Given the description of an element on the screen output the (x, y) to click on. 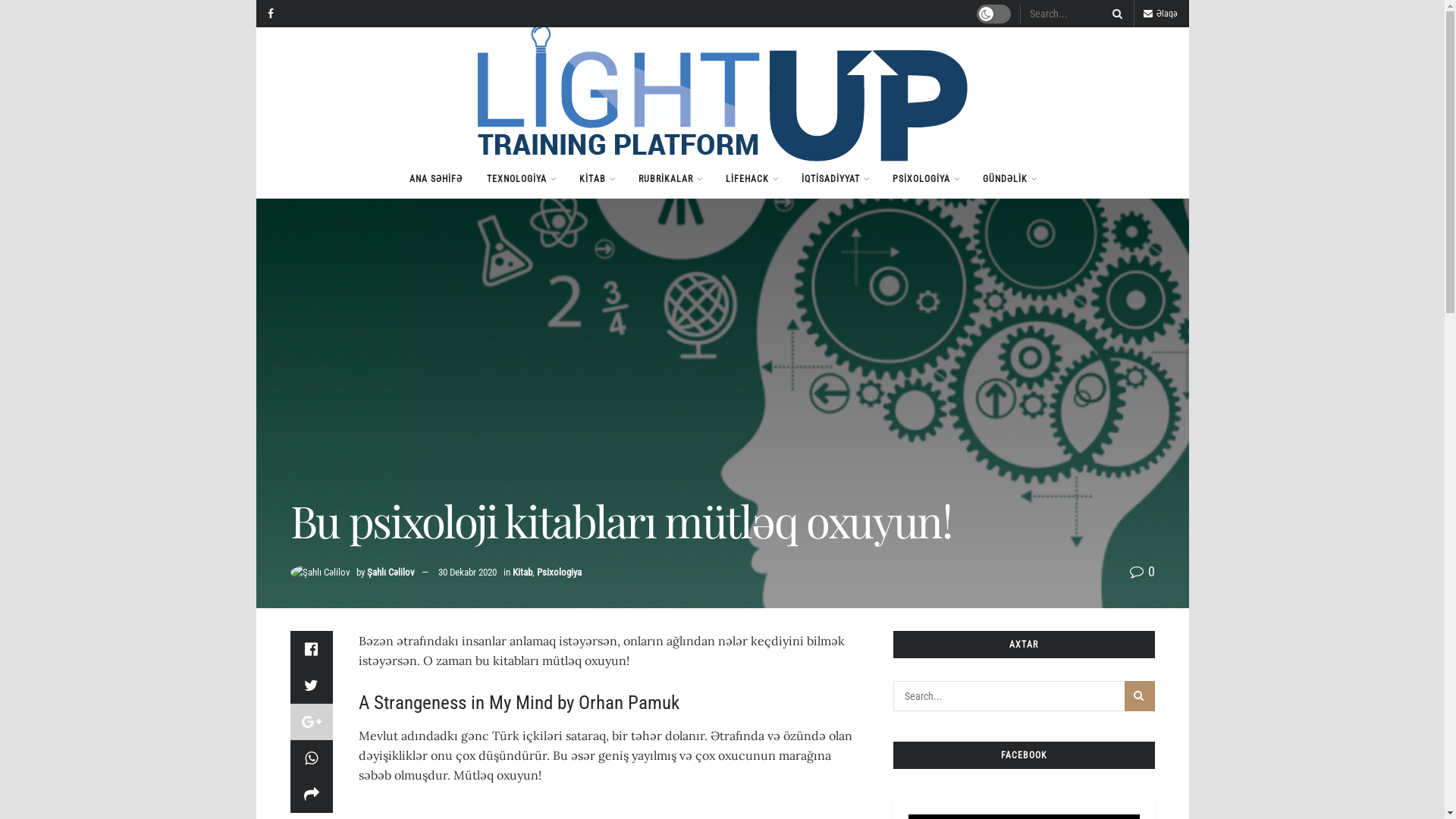
Psixologiya Element type: text (558, 571)
LIFEHACK Element type: text (750, 178)
FACEBOOK Element type: text (1022, 754)
30 Dekabr 2020 Element type: text (467, 571)
PSIXOLOGIYA Element type: text (924, 178)
0 Element type: text (1141, 571)
KITAB Element type: text (596, 178)
RUBRIKALAR Element type: text (669, 178)
TEXNOLOGIYA Element type: text (520, 178)
Kitab Element type: text (522, 571)
